Given the description of an element on the screen output the (x, y) to click on. 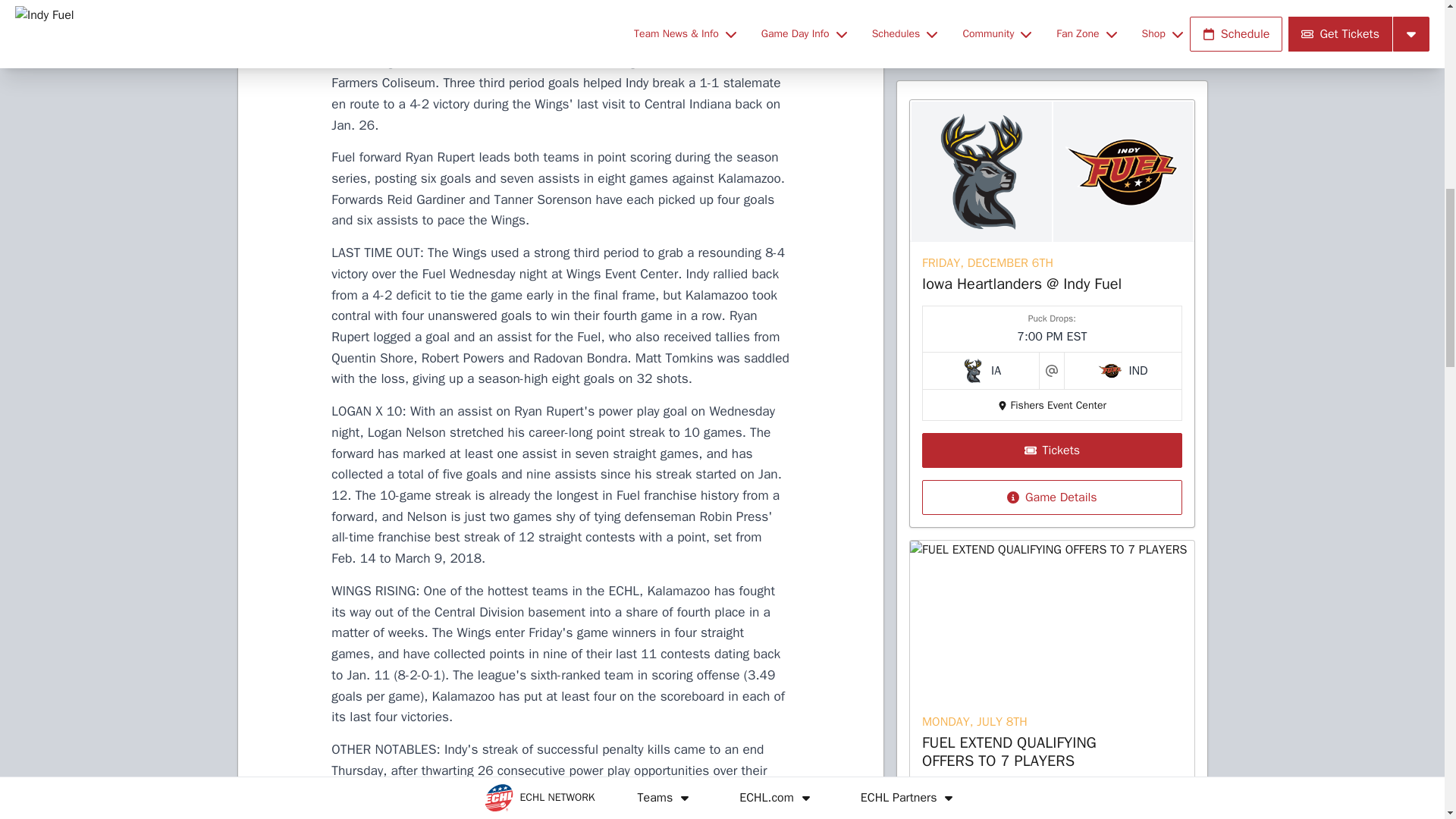
3rd party ad content (1051, 280)
